Given the description of an element on the screen output the (x, y) to click on. 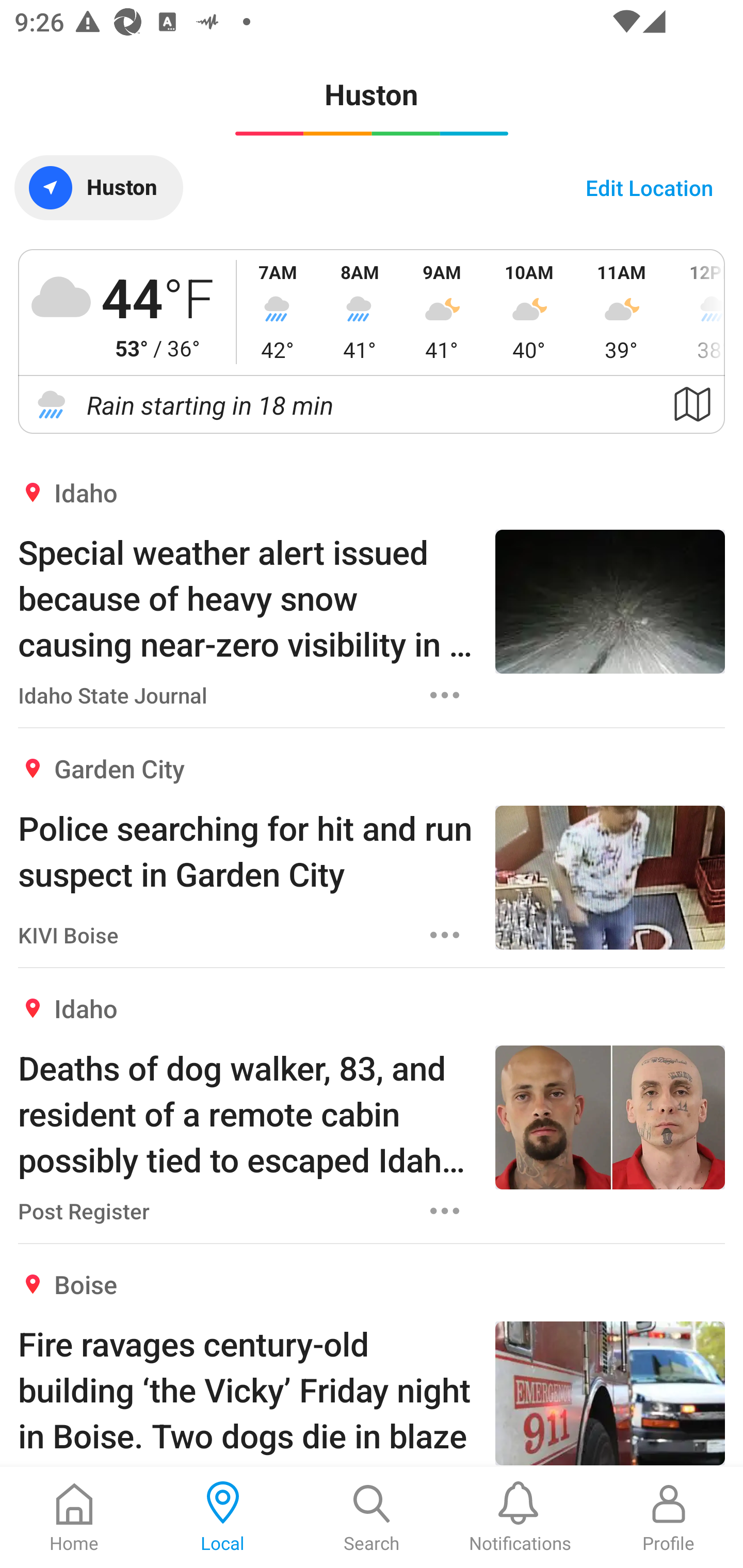
Huston (98, 187)
Edit Location (648, 187)
7AM 42° (277, 311)
8AM 41° (359, 311)
9AM 41° (441, 311)
10AM 40° (528, 311)
11AM 39° (621, 311)
12PM 38° (696, 311)
Rain starting in 18 min (371, 405)
Options (444, 695)
Options (444, 935)
Options (444, 1211)
Options (444, 1466)
Home (74, 1517)
Search (371, 1517)
Notifications (519, 1517)
Profile (668, 1517)
